Given the description of an element on the screen output the (x, y) to click on. 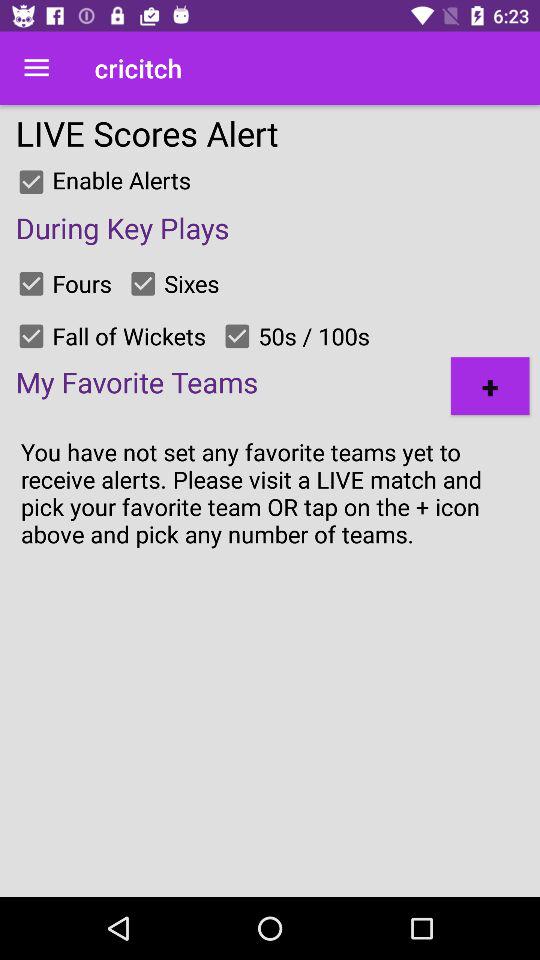
launch item above the my favorite teams icon (31, 336)
